Given the description of an element on the screen output the (x, y) to click on. 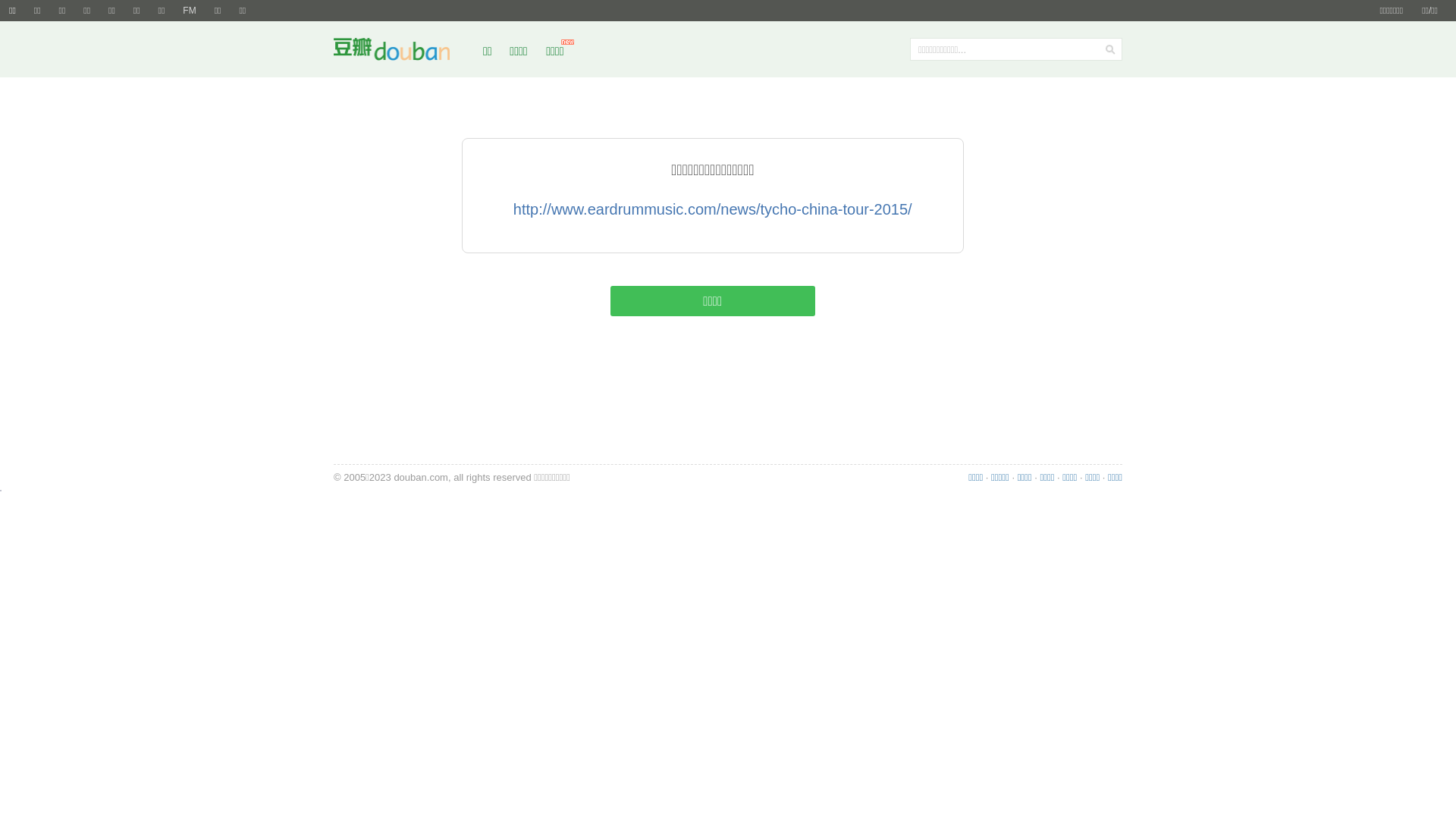
FM Element type: text (188, 10)
